Given the description of an element on the screen output the (x, y) to click on. 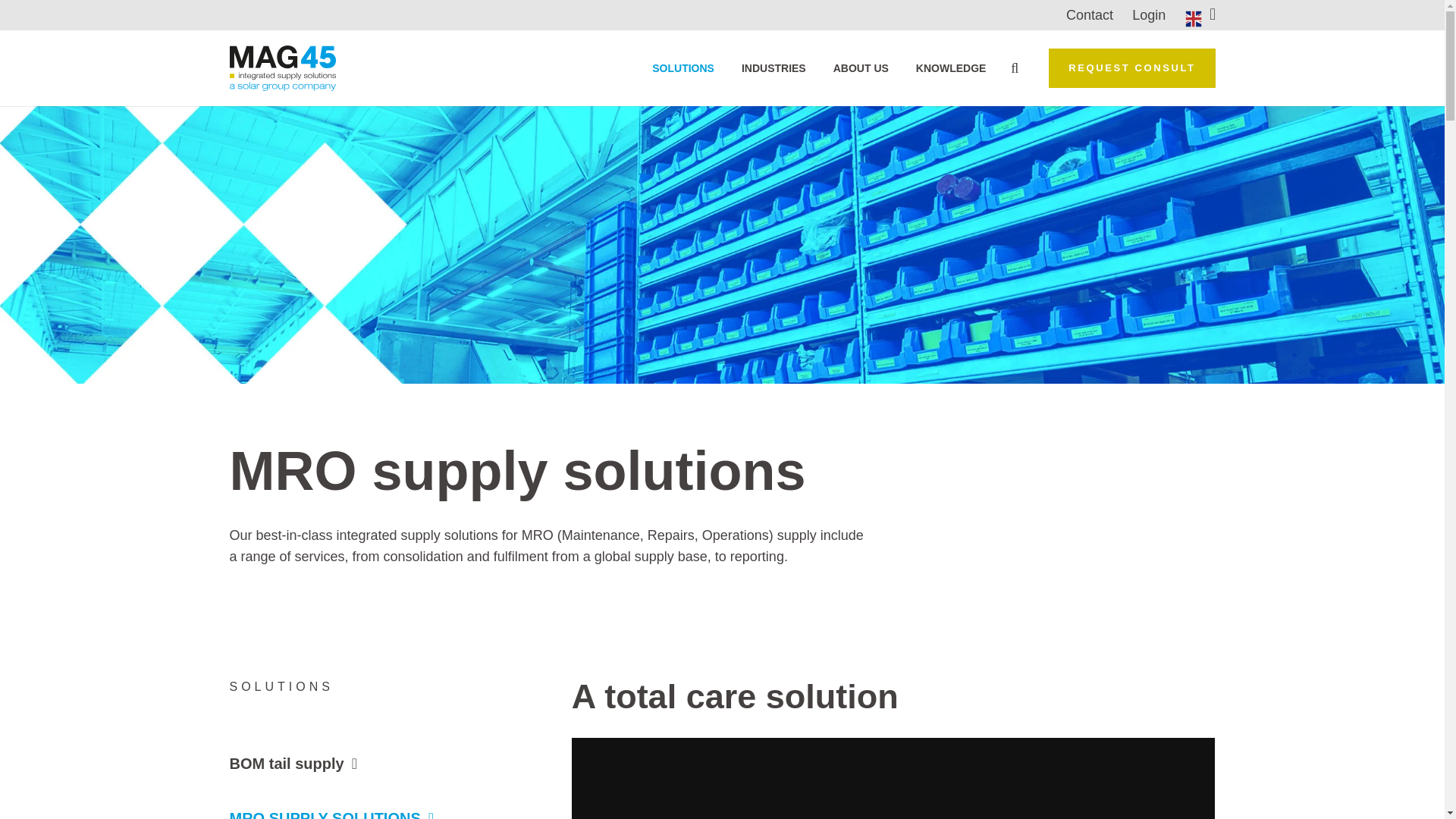
Login (1149, 14)
INDUSTRIES (773, 68)
SOLUTIONS (683, 68)
KNOWLEDGE (951, 68)
Contact (1089, 14)
ABOUT US (860, 68)
REQUEST CONSULT (1131, 67)
